Given the description of an element on the screen output the (x, y) to click on. 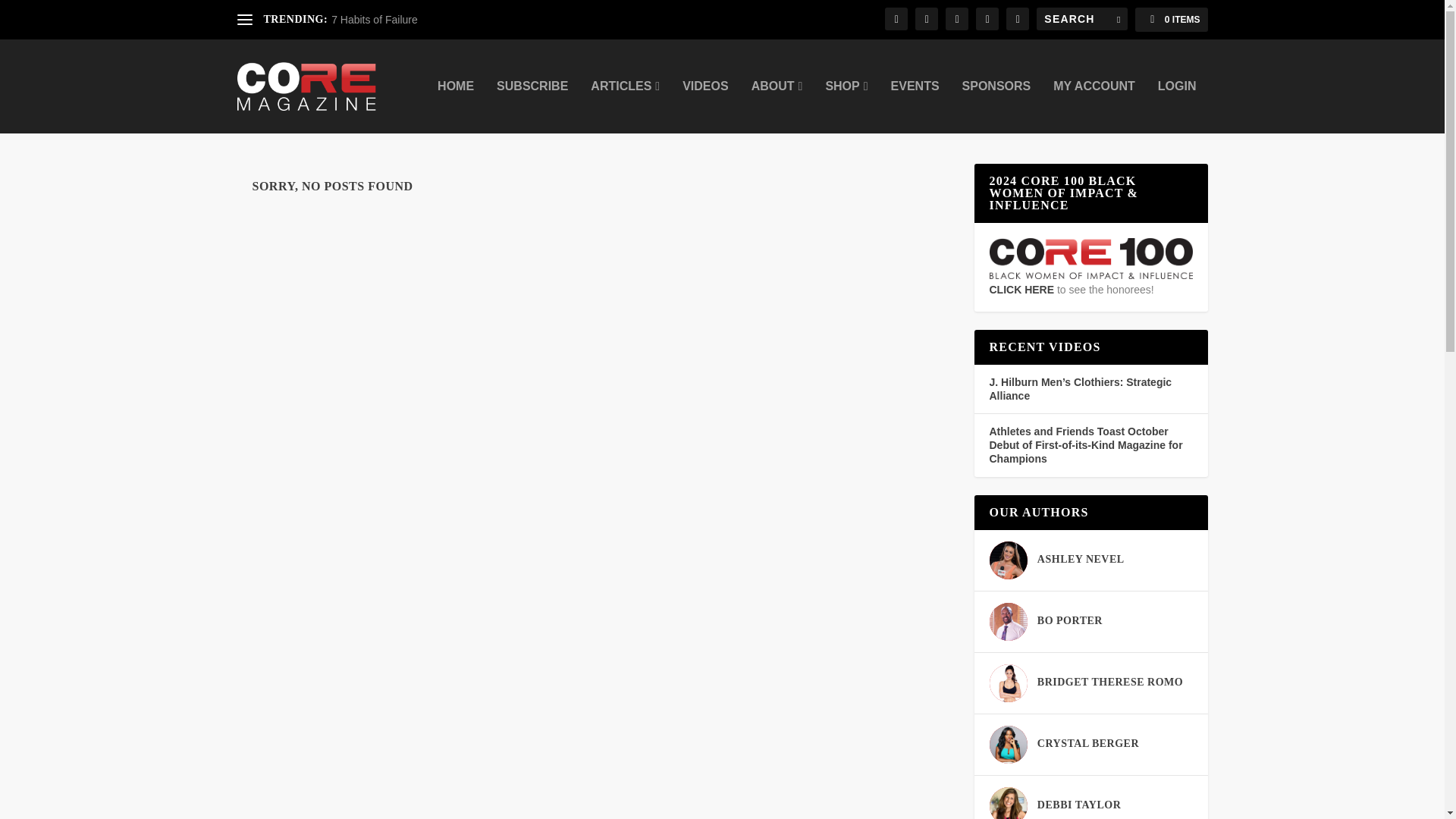
CLICK HERE (1090, 281)
0 ITEMS (1171, 19)
Search for: (1081, 18)
SPONSORS (996, 106)
BO PORTER (1069, 620)
ASHLEY NEVEL (1080, 559)
7 Habits of Failure (374, 19)
0 Items in Cart (1171, 19)
ABOUT (777, 106)
BRIDGET THERESE ROMO (1109, 682)
EVENTS (915, 106)
ARTICLES (625, 106)
SUBSCRIBE (531, 106)
MY ACCOUNT (1093, 106)
